Given the description of an element on the screen output the (x, y) to click on. 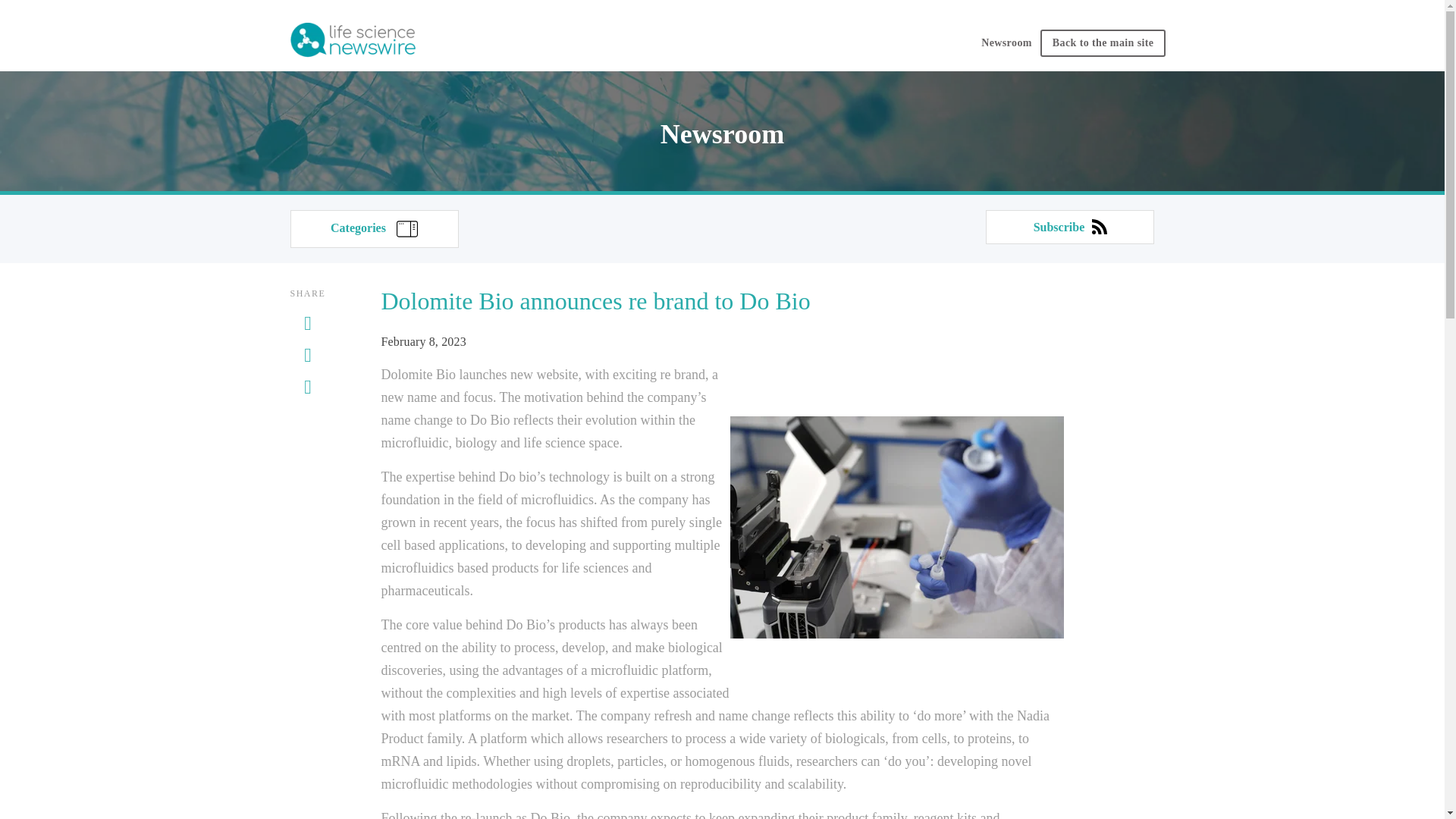
Arrow (406, 228)
Back to the main site (1103, 42)
Newsroom (1006, 47)
Life Science Newswire 2 (351, 40)
